Given the description of an element on the screen output the (x, y) to click on. 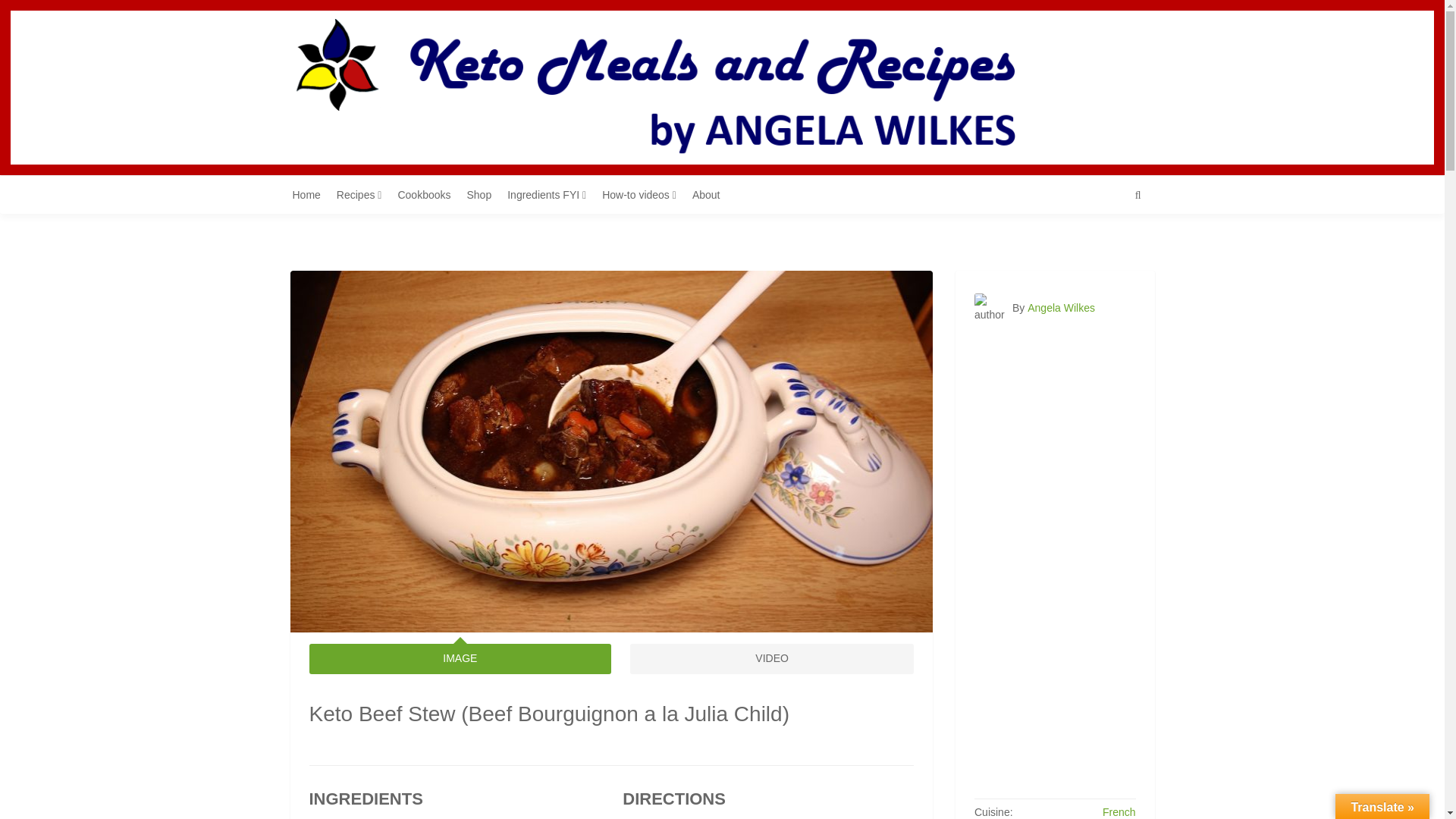
Cookbooks (429, 194)
Home (311, 194)
About (712, 194)
IMAGE (459, 658)
How-to videos (644, 194)
Shop (485, 194)
LOG IN (1126, 100)
Ingredients FYI (551, 194)
Recipes (364, 194)
REGISTER (1118, 75)
